Given the description of an element on the screen output the (x, y) to click on. 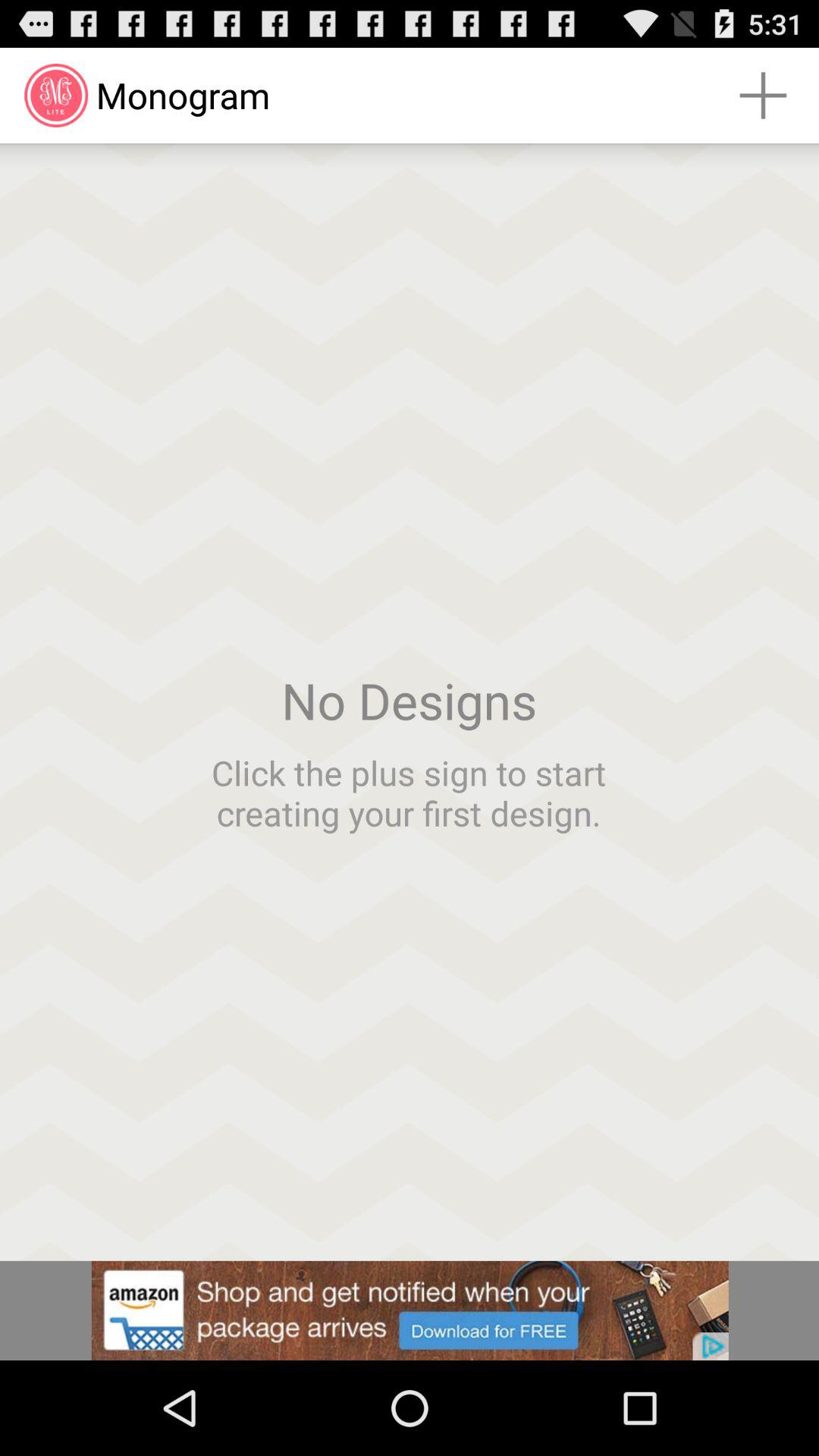
open advertisement (409, 1310)
